Given the description of an element on the screen output the (x, y) to click on. 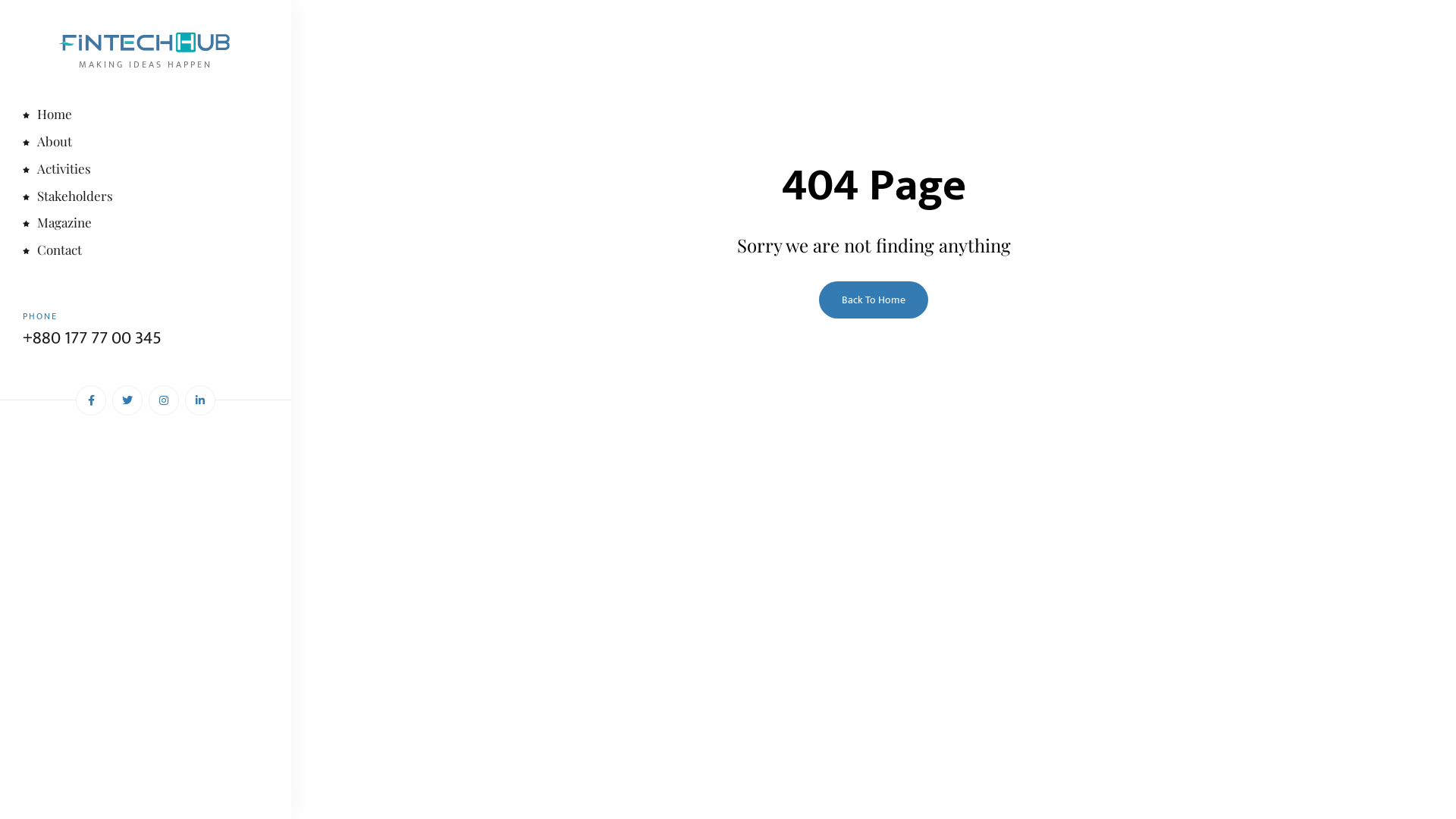
Back To Home Element type: text (873, 299)
Home Element type: text (145, 115)
Activities Element type: text (145, 169)
About Element type: text (145, 142)
Stakeholders Element type: text (145, 197)
Contact Element type: text (145, 250)
Magazine Element type: text (145, 223)
